Given the description of an element on the screen output the (x, y) to click on. 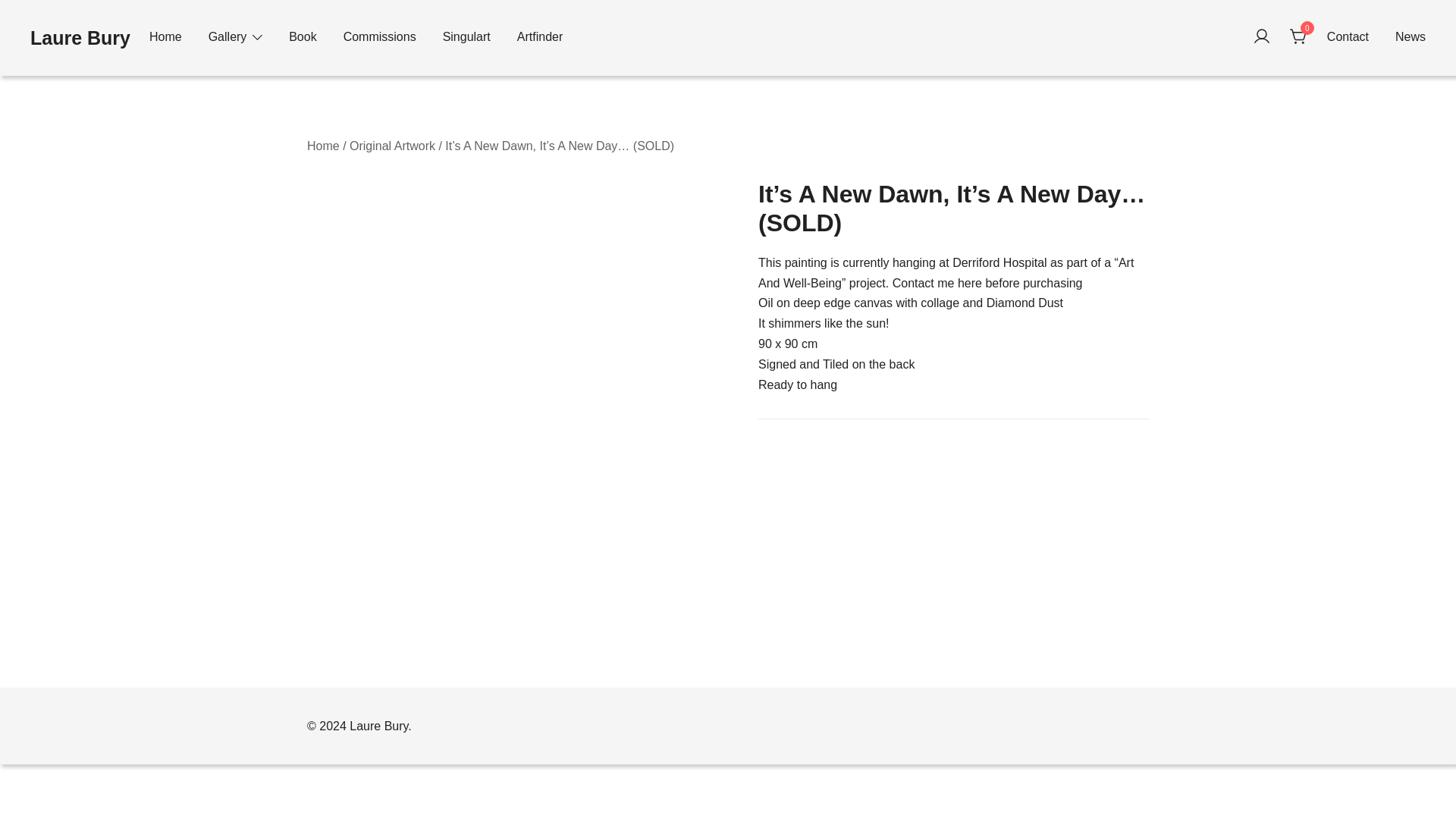
0 (1298, 37)
Your account (1261, 37)
Gallery (227, 37)
Home (165, 37)
Artfinder (539, 37)
0 (1298, 36)
Singulart (466, 37)
View your shopping cart (1298, 36)
Contact (1347, 37)
Commissions (379, 37)
